Given the description of an element on the screen output the (x, y) to click on. 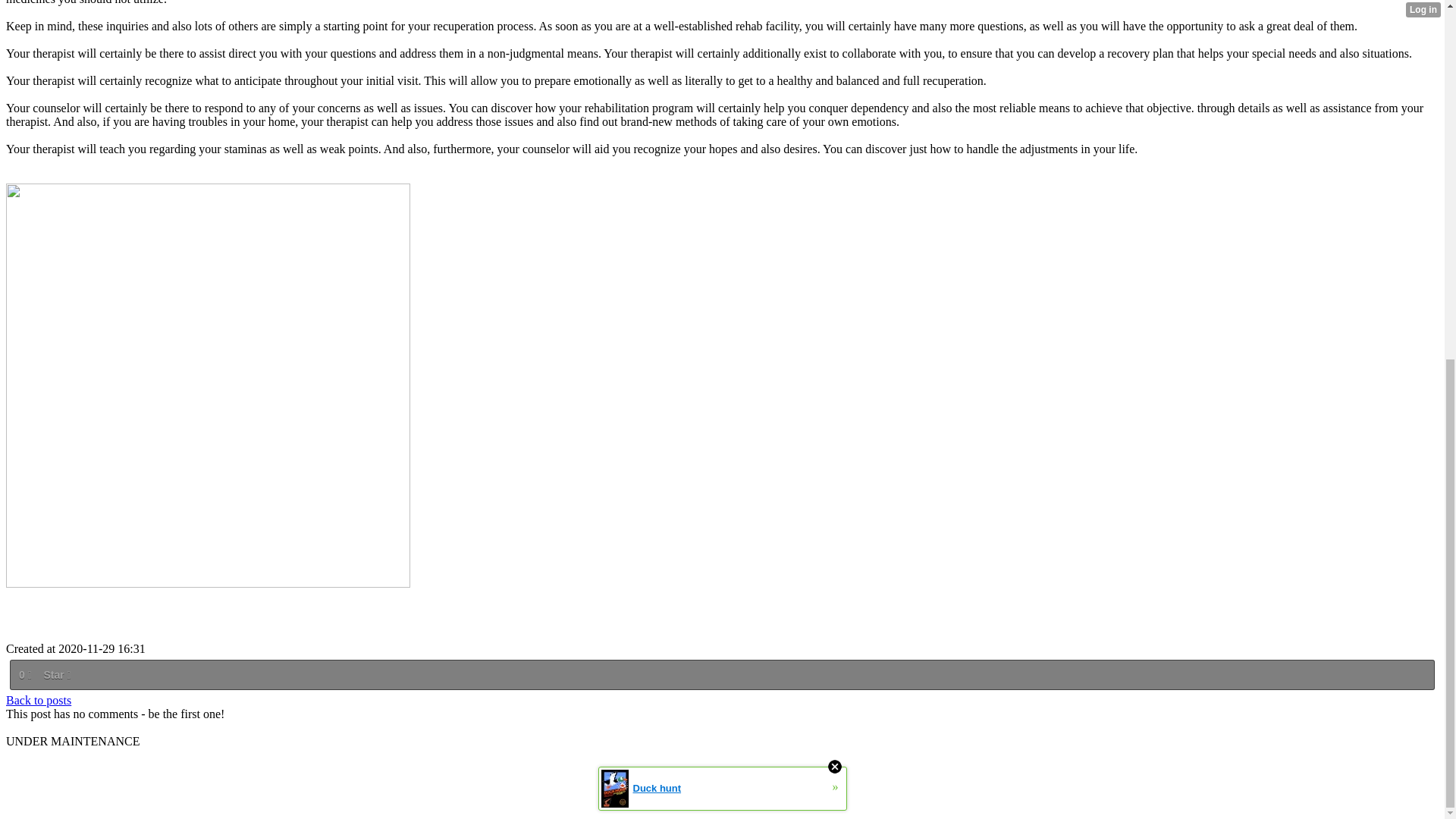
0 (24, 674)
Star (56, 674)
Back to posts (38, 699)
